Given the description of an element on the screen output the (x, y) to click on. 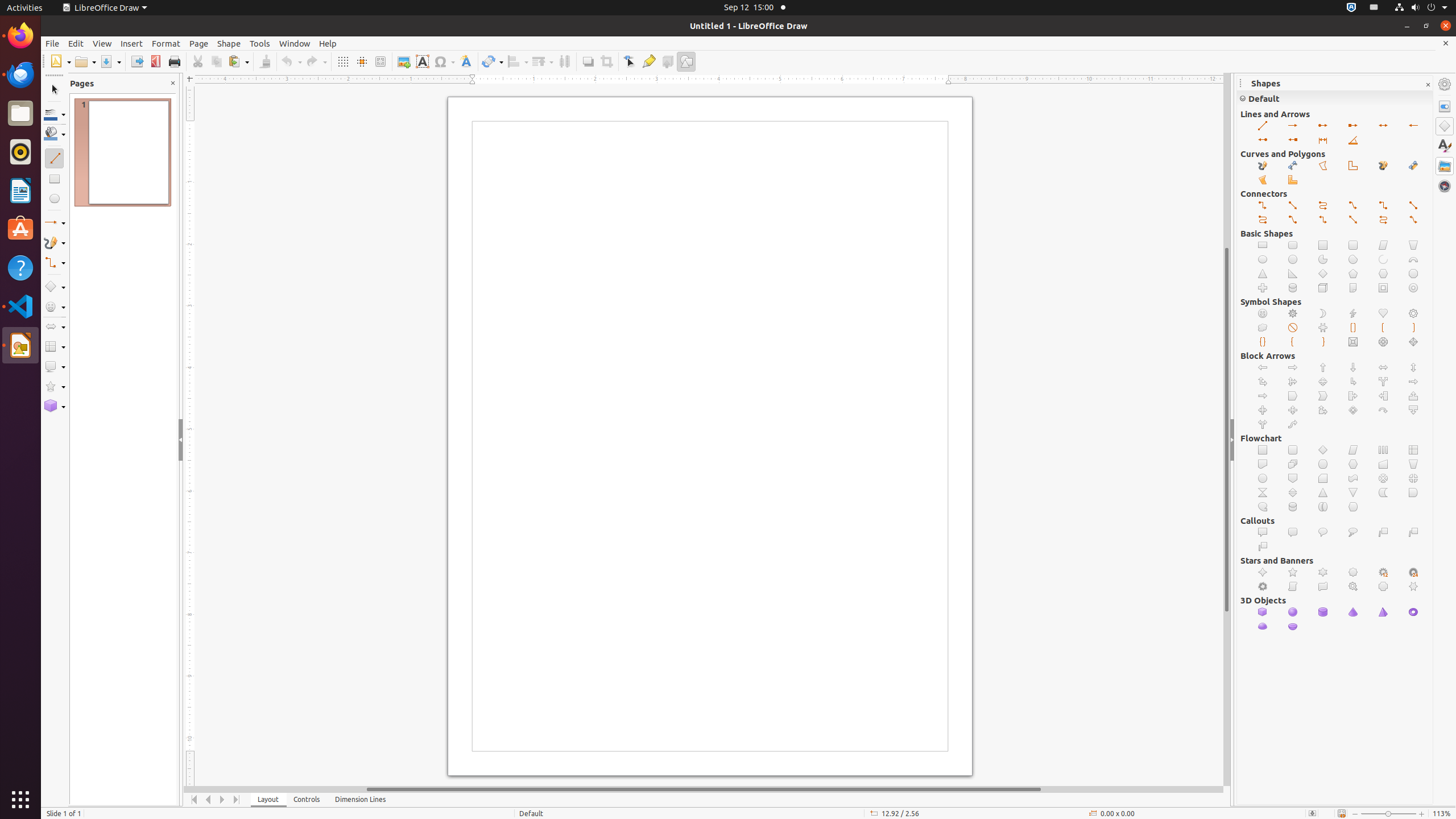
Heart Element type: list-item (1383, 313)
Files Element type: push-button (20, 113)
Regular Pentagon Element type: list-item (1353, 273)
Notched Right Arrow Element type: list-item (1262, 396)
Flowchart: Connector Element type: list-item (1262, 478)
